Given the description of an element on the screen output the (x, y) to click on. 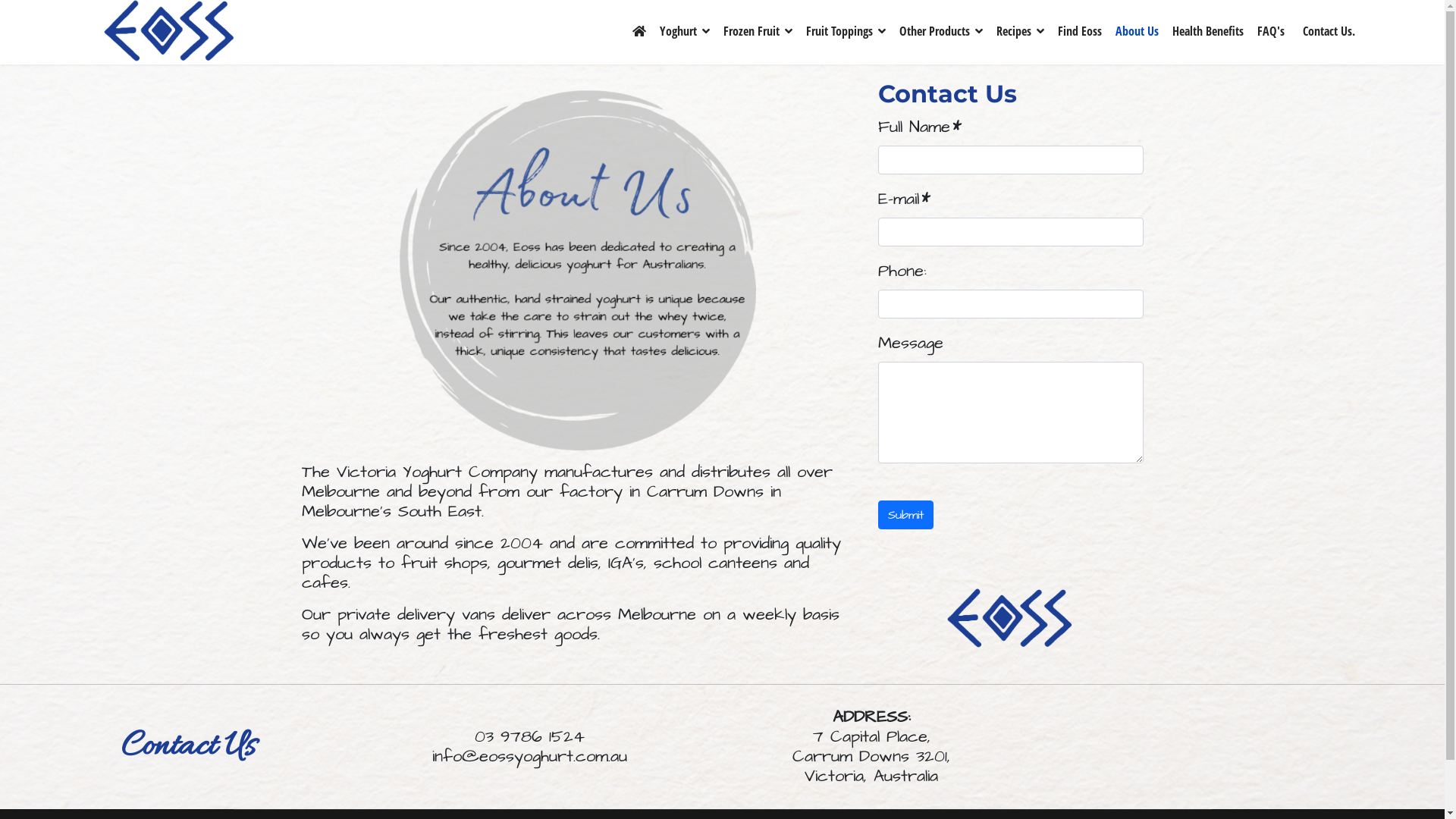
Frozen Fruit Element type: text (757, 30)
FAQ's Element type: text (1270, 30)
About Us Element type: text (1136, 30)
Health Benefits Element type: text (1207, 30)
Other Products Element type: text (940, 30)
Submit Element type: text (905, 514)
Contact Us. Element type: text (1323, 30)
Find Eoss Element type: text (1079, 30)
Yoghurt Element type: text (684, 30)
Recipes Element type: text (1020, 30)
Fruit Toppings Element type: text (845, 30)
